Given the description of an element on the screen output the (x, y) to click on. 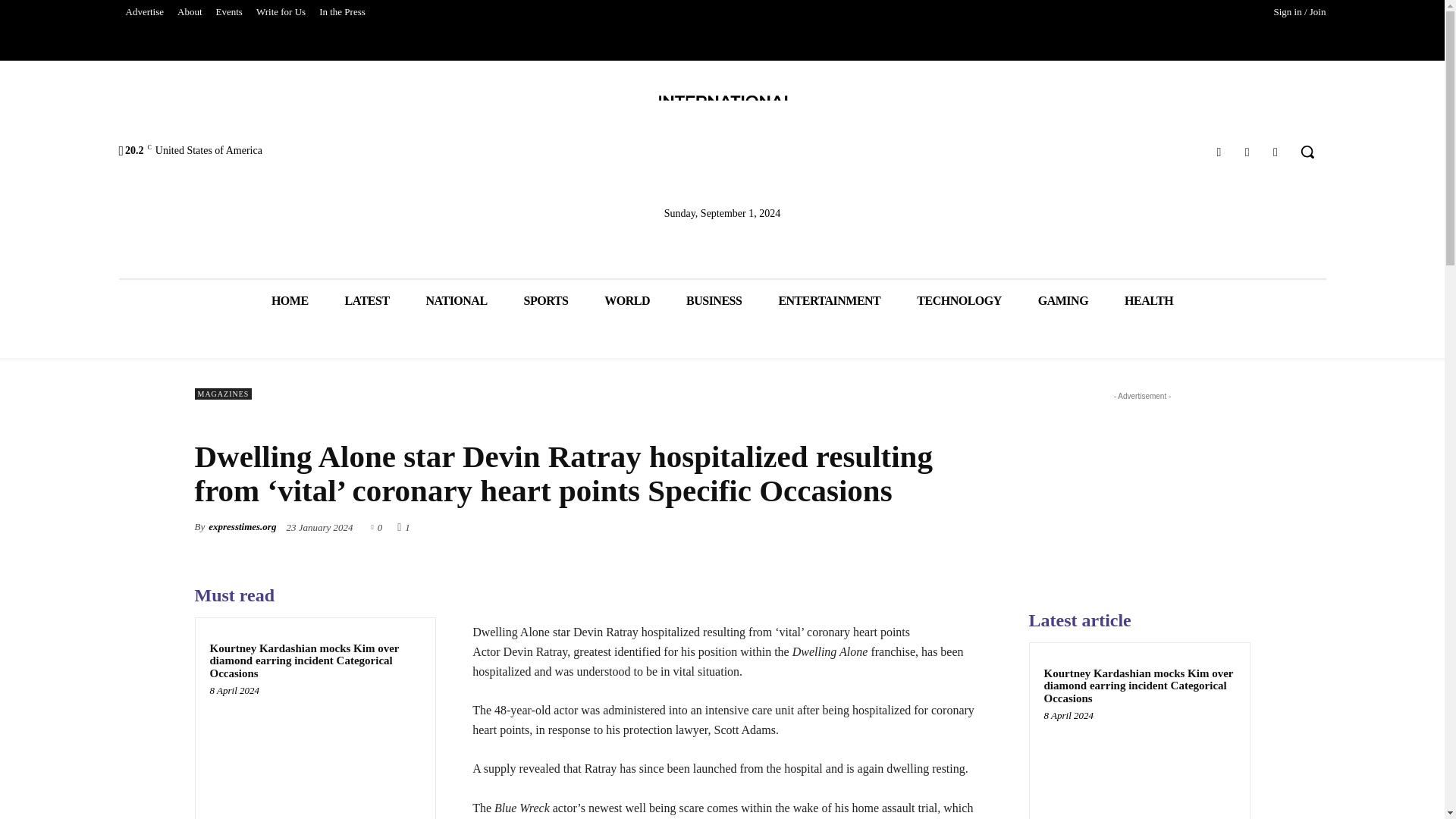
Events (228, 12)
WORLD (627, 300)
Twitter (1246, 151)
About (189, 12)
HOME (289, 300)
ENTERTAINMENT (829, 300)
Youtube (1275, 151)
In the Press (342, 12)
BUSINESS (714, 300)
NATIONAL (456, 300)
